Given the description of an element on the screen output the (x, y) to click on. 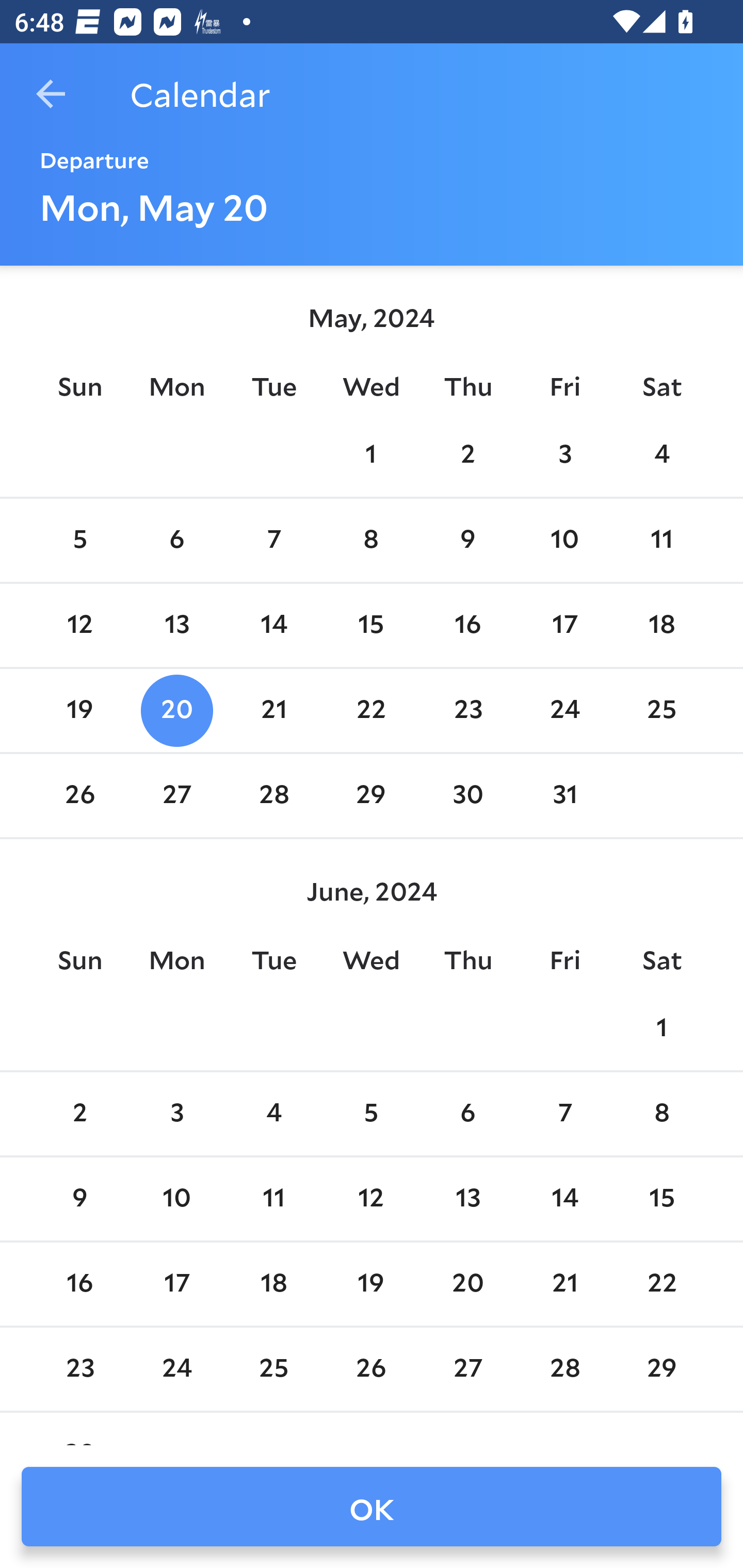
Navigate up (50, 93)
1 (371, 454)
2 (467, 454)
3 (565, 454)
4 (661, 454)
5 (79, 540)
6 (177, 540)
7 (273, 540)
8 (371, 540)
9 (467, 540)
10 (565, 540)
11 (661, 540)
12 (79, 625)
13 (177, 625)
14 (273, 625)
15 (371, 625)
16 (467, 625)
17 (565, 625)
18 (661, 625)
19 (79, 710)
20 (177, 710)
21 (273, 710)
22 (371, 710)
23 (467, 710)
24 (565, 710)
25 (661, 710)
26 (79, 796)
27 (177, 796)
28 (273, 796)
29 (371, 796)
30 (467, 796)
31 (565, 796)
1 (661, 1028)
2 (79, 1114)
3 (177, 1114)
4 (273, 1114)
5 (371, 1114)
6 (467, 1114)
7 (565, 1114)
8 (661, 1114)
9 (79, 1199)
10 (177, 1199)
11 (273, 1199)
12 (371, 1199)
13 (467, 1199)
14 (565, 1199)
15 (661, 1199)
16 (79, 1284)
17 (177, 1284)
18 (273, 1284)
